Given the description of an element on the screen output the (x, y) to click on. 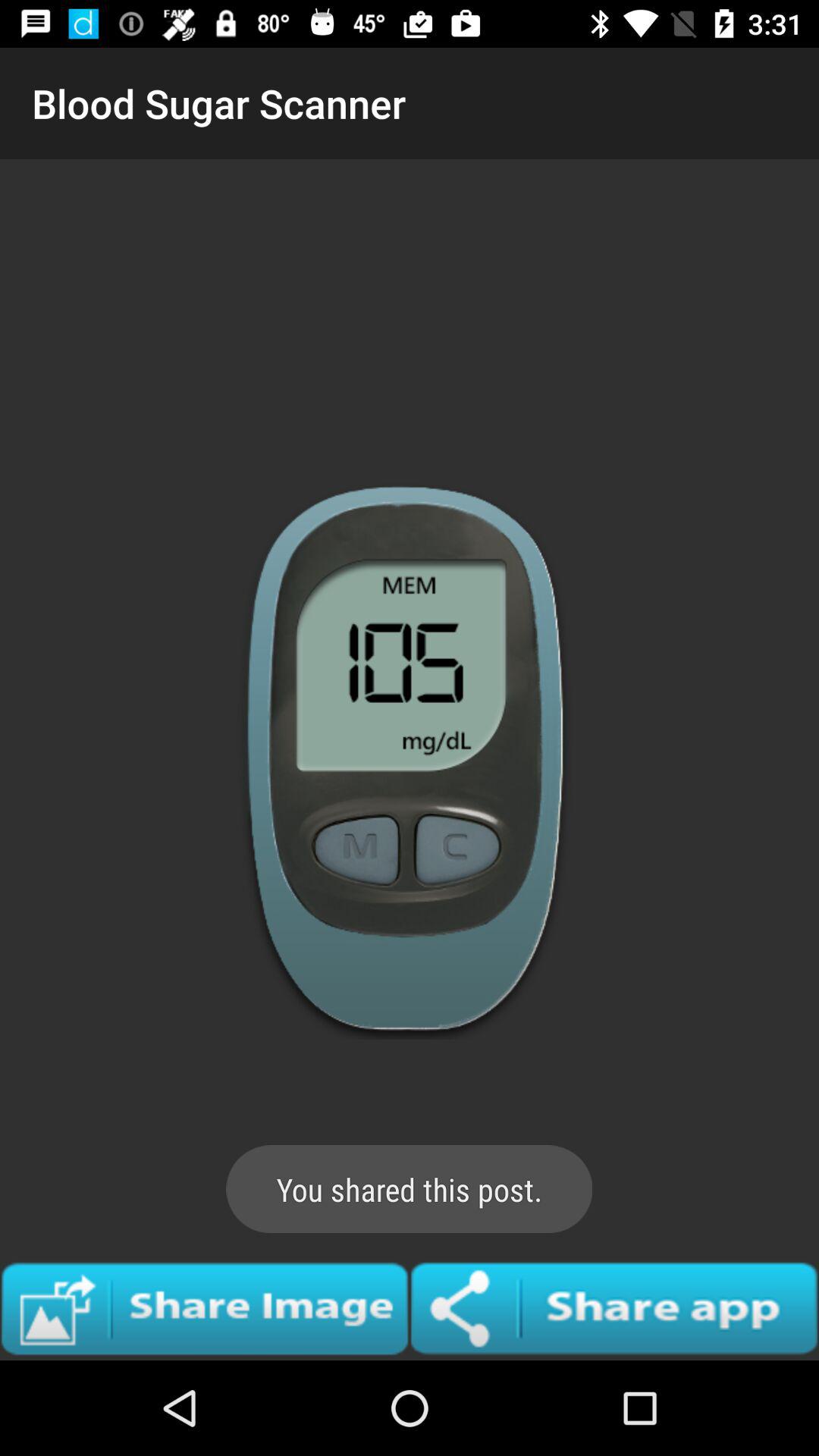
share app button (614, 1308)
